Given the description of an element on the screen output the (x, y) to click on. 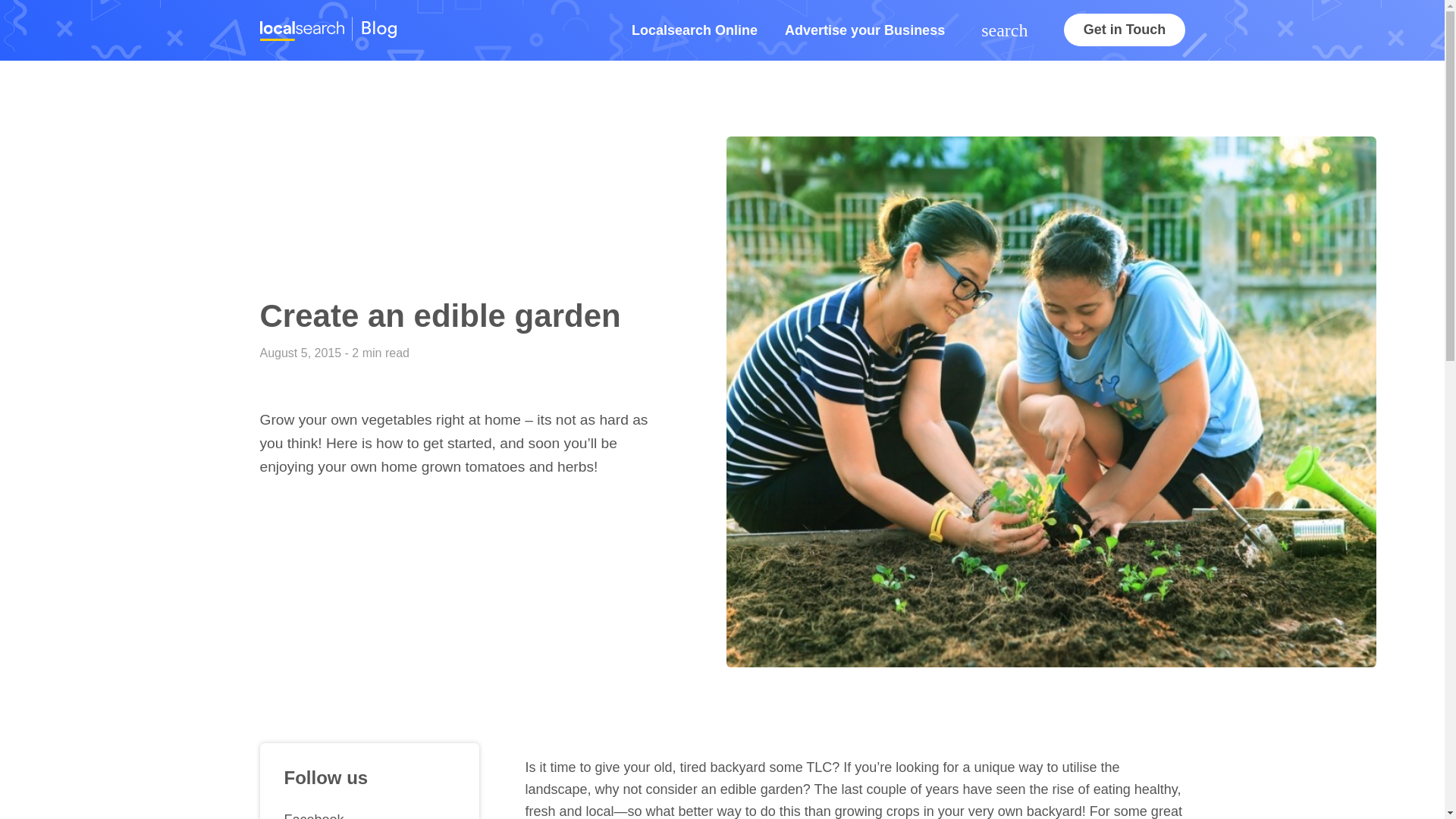
Get in Touch (1124, 29)
Facebook (368, 810)
Localsearch Online (694, 29)
Advertise your Business (864, 29)
